Given the description of an element on the screen output the (x, y) to click on. 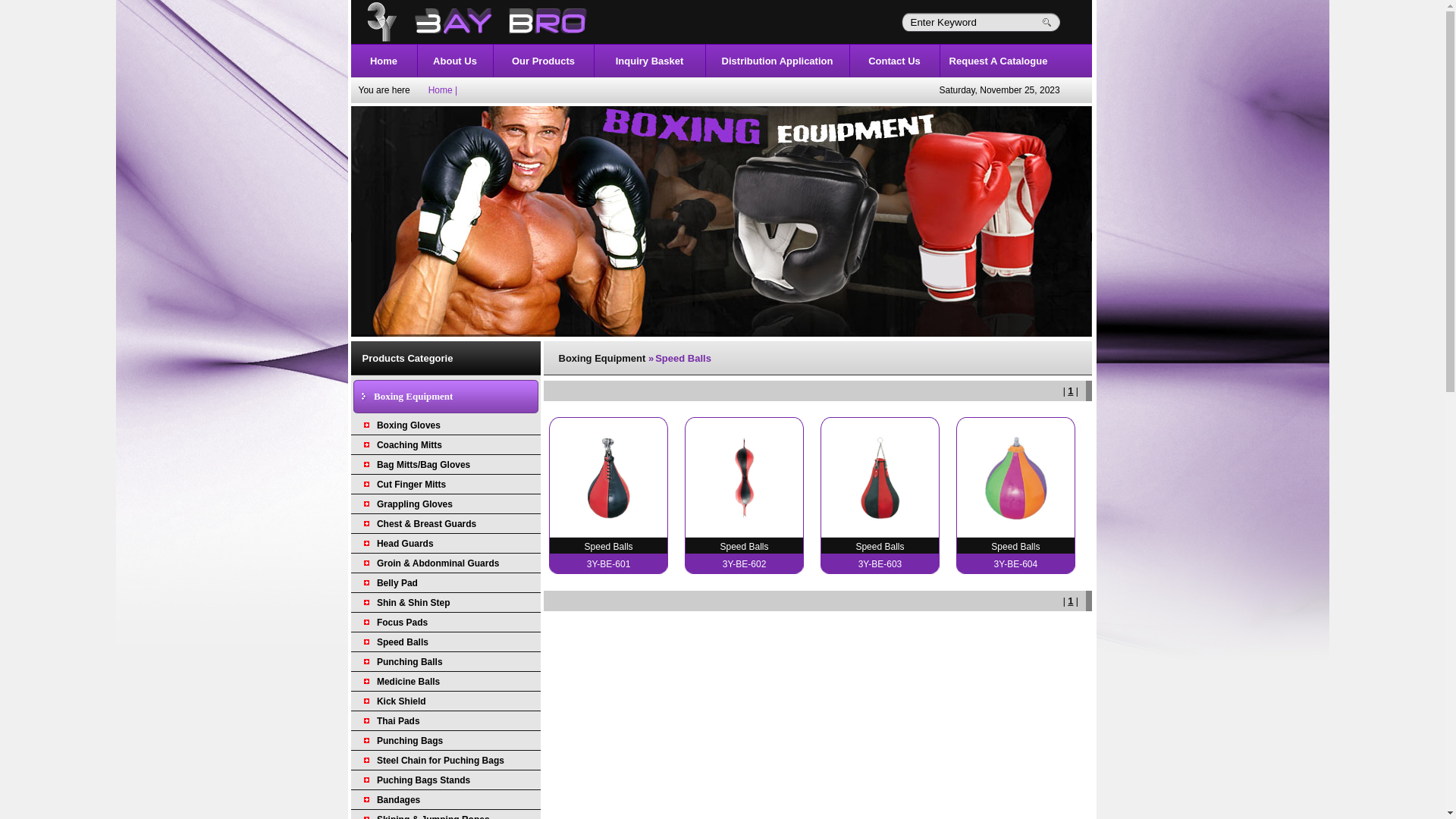
Distribution Application Element type: text (777, 59)
Grappling Gloves Element type: text (414, 503)
Home Element type: text (383, 59)
Thai Pads Element type: text (398, 720)
Inquiry Basket Element type: text (649, 59)
Belly Pad Element type: text (396, 582)
Chest & Breast Guards Element type: text (426, 523)
Head Guards Element type: text (404, 543)
Groin & Abdonminal Guards Element type: text (437, 563)
About Us Element type: text (454, 59)
Kick Shield Element type: text (401, 701)
Our Products Element type: text (542, 59)
Punching Balls Element type: text (409, 661)
Boxing Equipment Element type: text (412, 395)
Shin & Shin Step Element type: text (413, 602)
Focus Pads Element type: text (401, 622)
Cut Finger Mitts Element type: text (410, 484)
Puching Bags Stands Element type: text (423, 780)
Contact Us Element type: text (894, 59)
Request A Catalogue Element type: text (998, 59)
Punching Bags Element type: text (409, 740)
Bag Mitts/Bag Gloves Element type: text (423, 464)
Coaching Mitts Element type: text (409, 444)
Bandages Element type: text (398, 799)
Medicine Balls Element type: text (407, 681)
Boxing Gloves Element type: text (408, 425)
Steel Chain for Puching Bags Element type: text (440, 760)
Speed Balls Element type: text (402, 642)
